Given the description of an element on the screen output the (x, y) to click on. 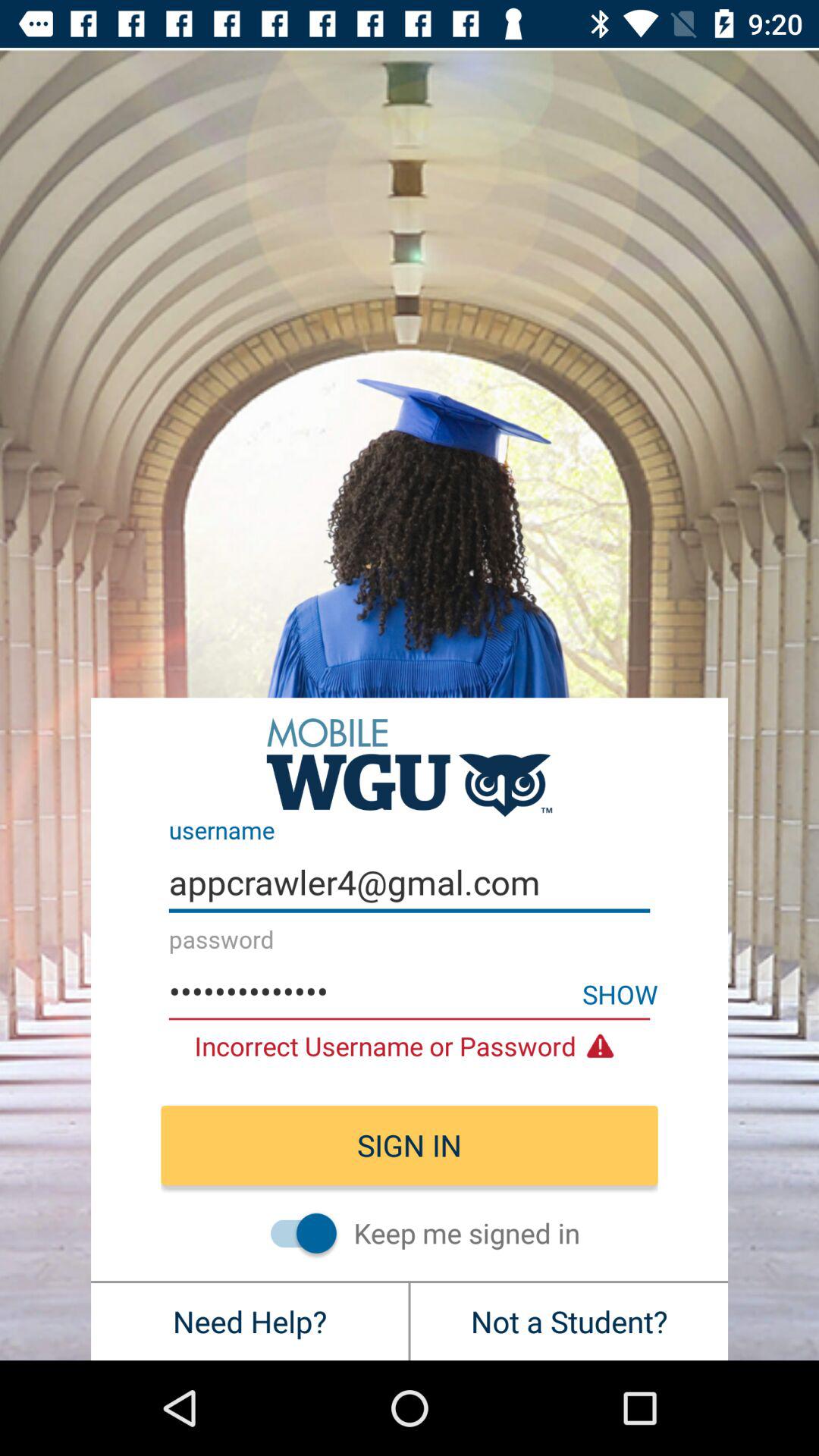
flip to need help? item (249, 1321)
